Given the description of an element on the screen output the (x, y) to click on. 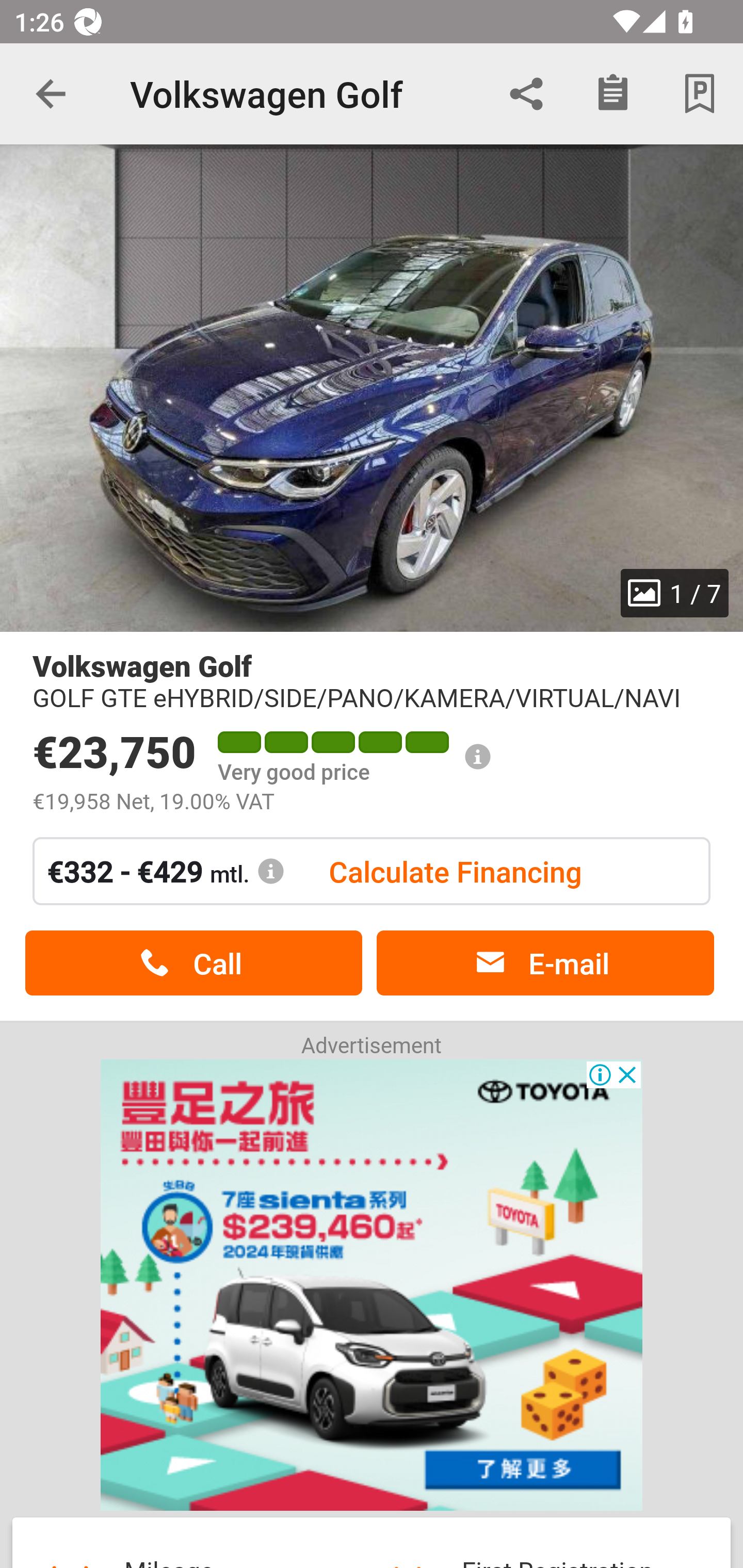
Navigate up (50, 93)
Share via (525, 93)
Checklist (612, 93)
Park (699, 93)
Calculate Financing (454, 870)
€332 - €429 mtl. (165, 870)
Call (193, 963)
E-mail (545, 963)
Advertisement (371, 1285)
